Given the description of an element on the screen output the (x, y) to click on. 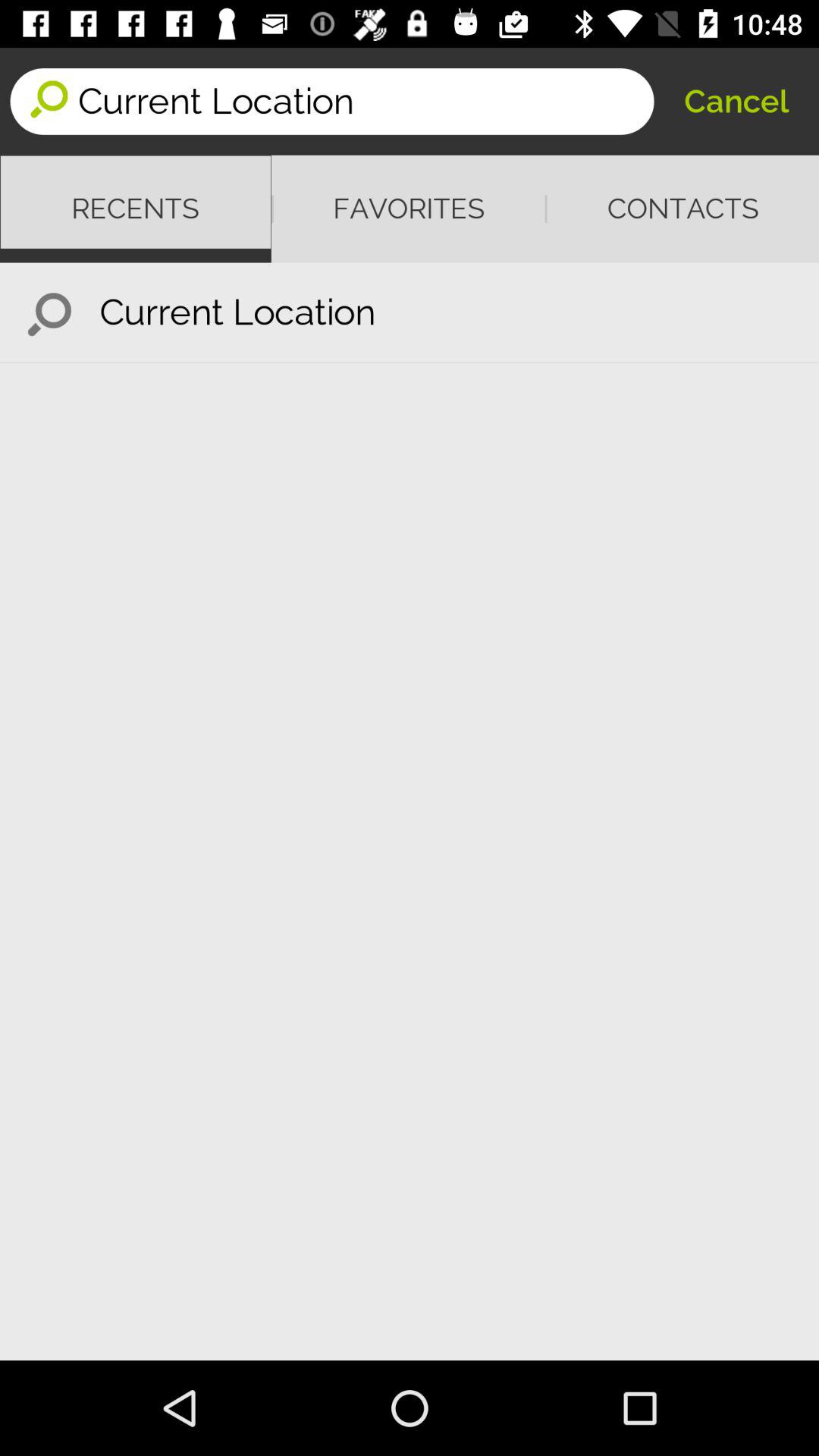
turn on the item next to the current location (736, 101)
